Given the description of an element on the screen output the (x, y) to click on. 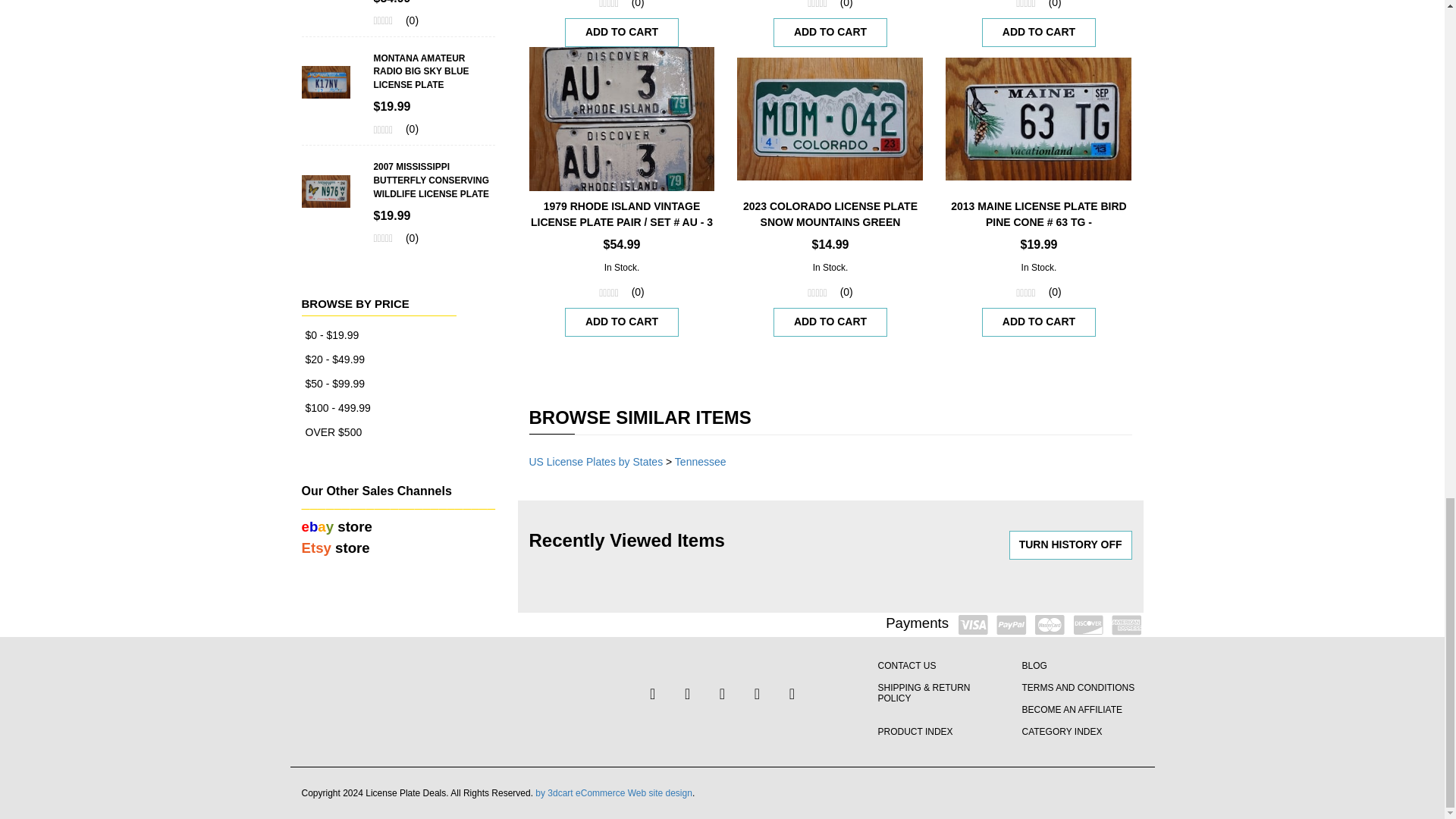
Follow Us on Instagram (790, 693)
Follow Us on Pinterest (756, 693)
Like Us on Facebook (652, 693)
Subscribe to our Channel (721, 693)
Follow Us on Twitter (687, 693)
